Given the description of an element on the screen output the (x, y) to click on. 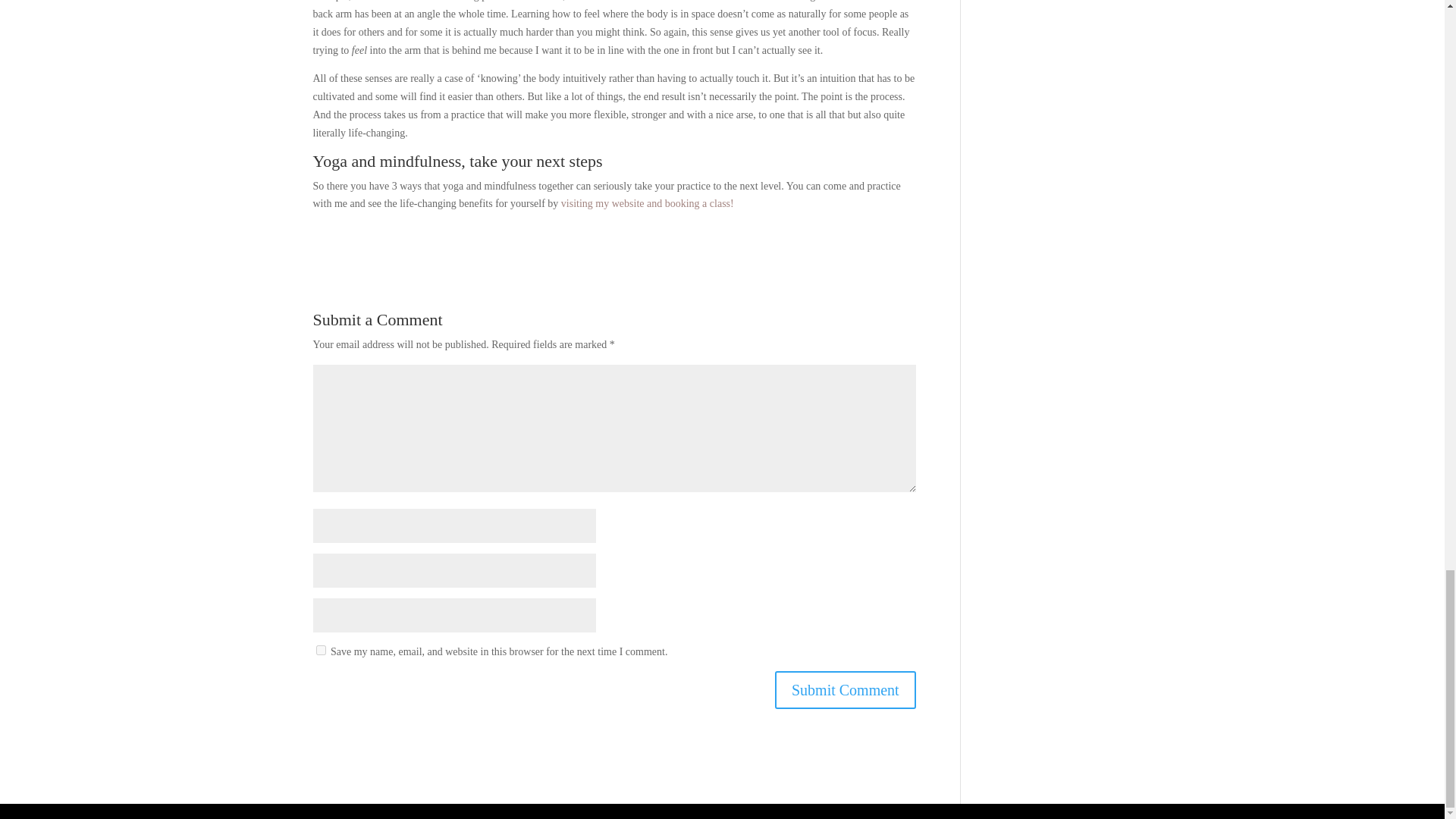
Submit Comment (844, 689)
Submit Comment (844, 689)
yes (319, 650)
visiting my website and booking a class! (646, 203)
